Given the description of an element on the screen output the (x, y) to click on. 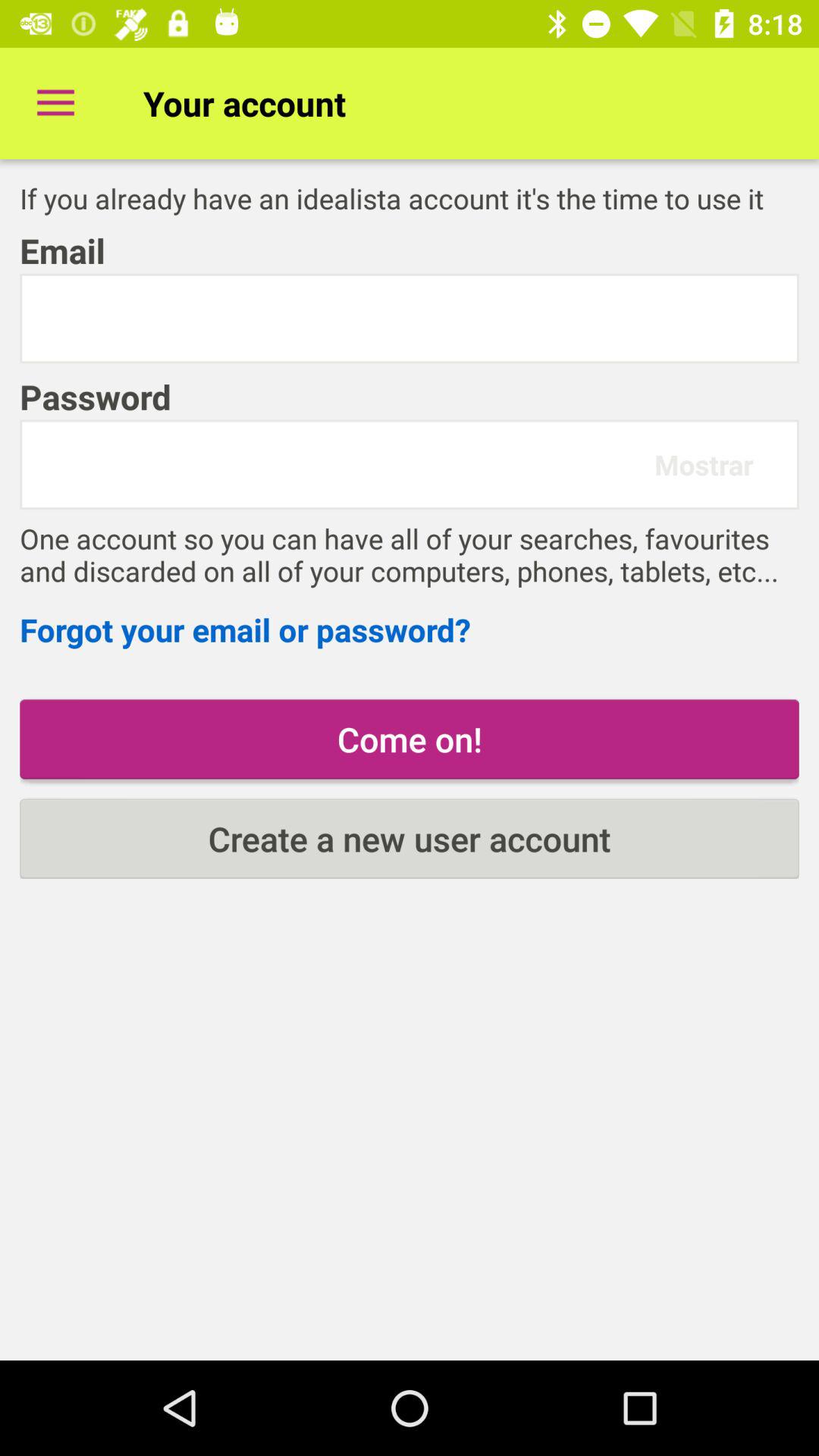
launch forgot your email (409, 629)
